Given the description of an element on the screen output the (x, y) to click on. 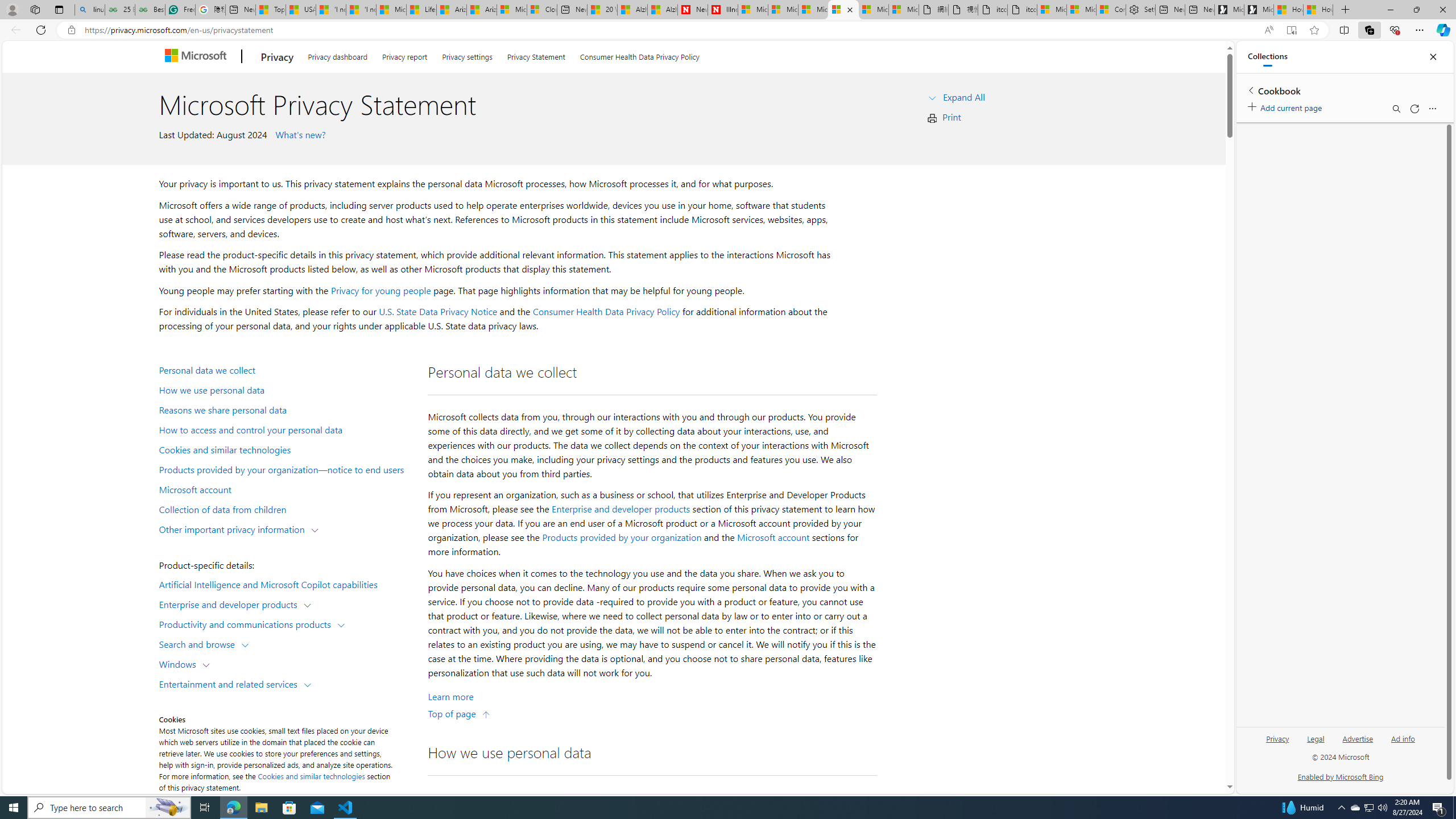
Search and browse (199, 643)
USA TODAY - MSN (300, 9)
Reasons we share personal data (287, 409)
Products provided by your organization (621, 537)
How to Use a TV as a Computer Monitor (1318, 9)
U.S. State Data Privacy Notice (437, 311)
Top Stories - MSN (270, 9)
Productivity and communications products (247, 623)
